Given the description of an element on the screen output the (x, y) to click on. 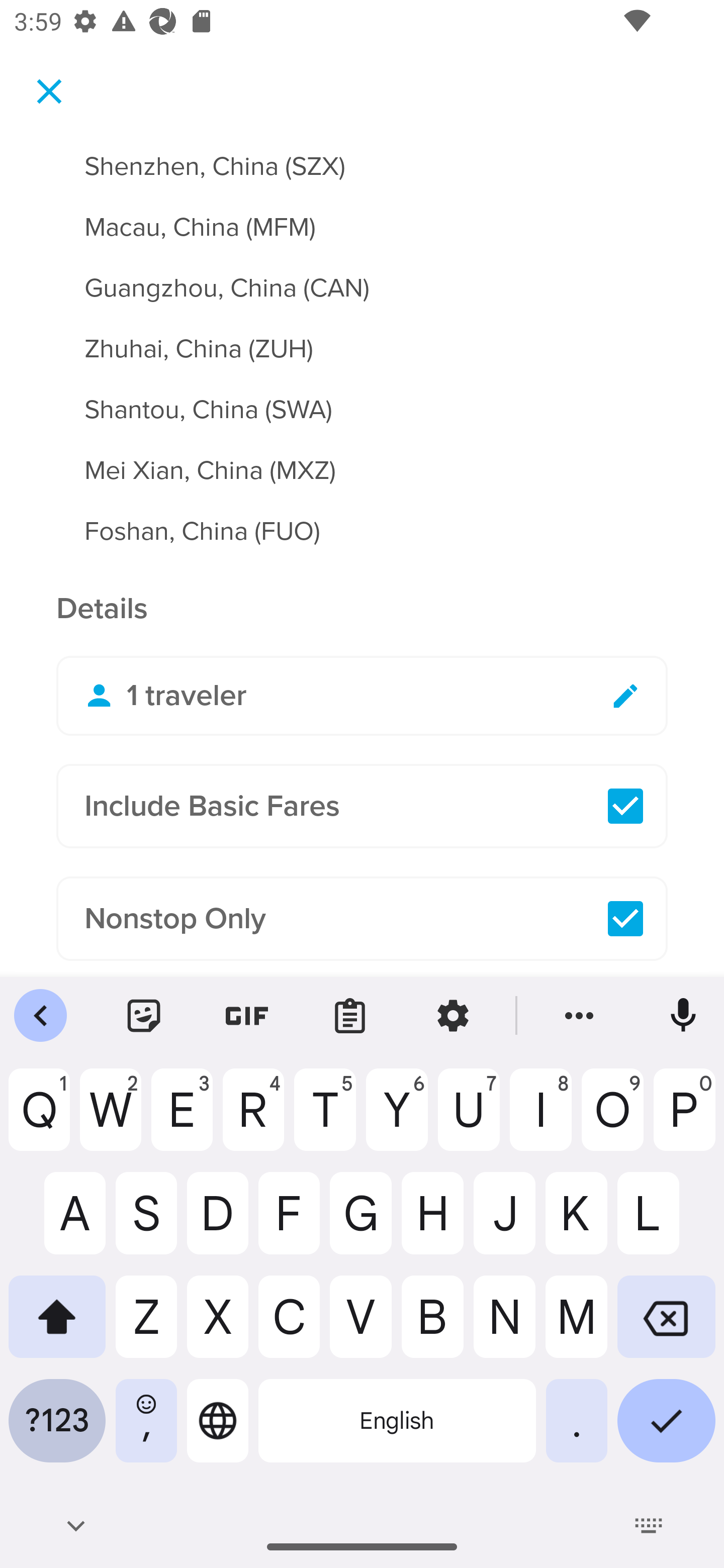
Cancel (49, 90)
Shenzhen, China (SZX) (361, 163)
Macau, China (MFM) (361, 215)
Guangzhou, China (CAN) (361, 276)
Zhuhai, China (ZUH) (361, 337)
Shantou, China (SWA) (361, 398)
Mei Xian, China (MXZ) (361, 458)
Foshan, China (FUO) (361, 531)
1 traveler Edit Travelers (361, 695)
Include Basic Fares (361, 805)
Nonstop Only (361, 918)
